Given the description of an element on the screen output the (x, y) to click on. 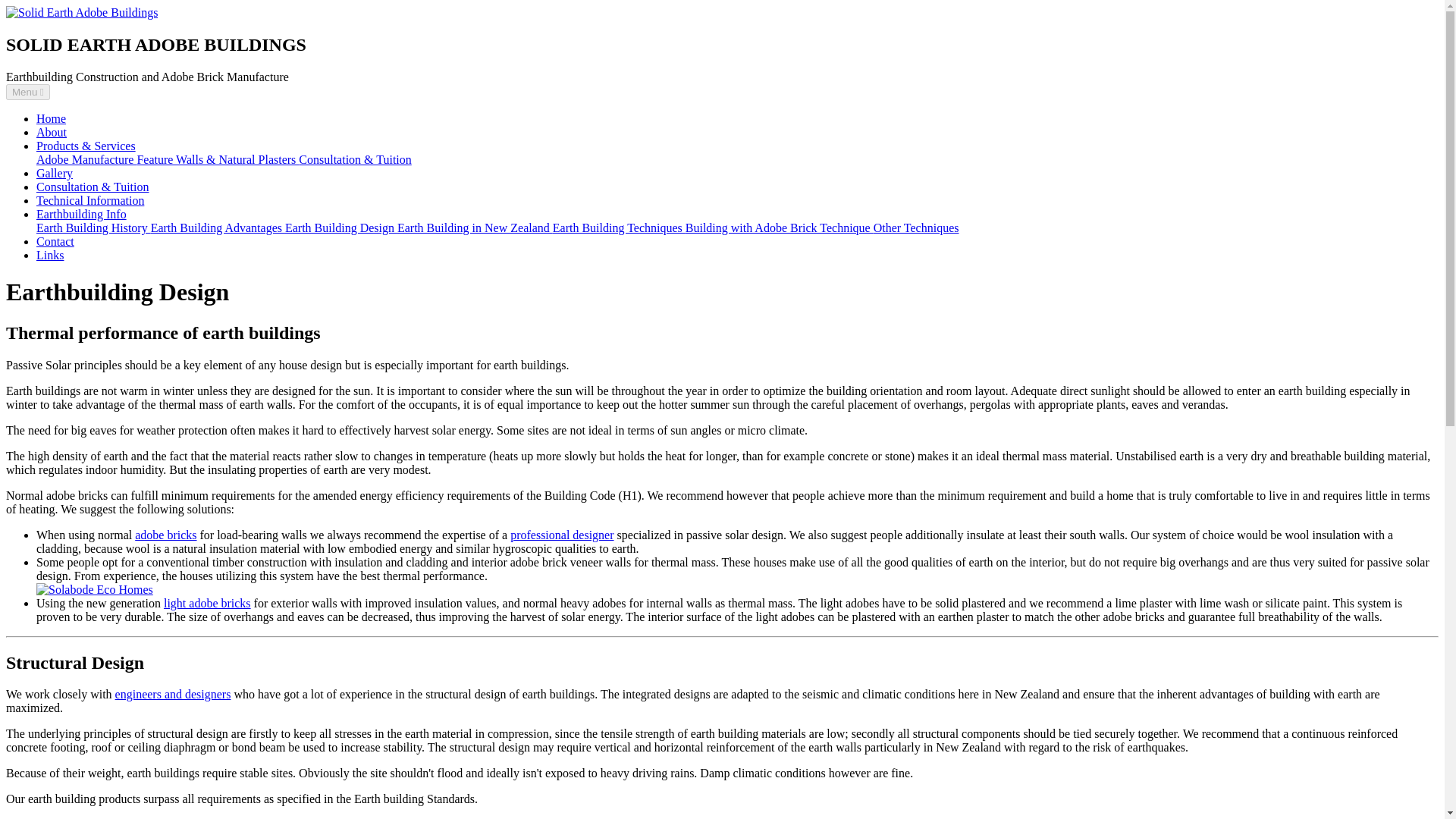
Solabode Eco Homes (94, 589)
About (51, 132)
Contact (55, 241)
Gallery (54, 173)
Earthbuilding Info (81, 214)
Solid Earth Adobe Buildings - Hompepage (81, 11)
Earth Building Advantages (218, 227)
Earth Building History (93, 227)
light adobe bricks (206, 603)
Menu (27, 91)
Other Techniques (916, 227)
Technical Information (90, 200)
Earth Building Techniques (619, 227)
Building with Adobe Brick Technique (779, 227)
Adobe Manufacture (86, 159)
